Given the description of an element on the screen output the (x, y) to click on. 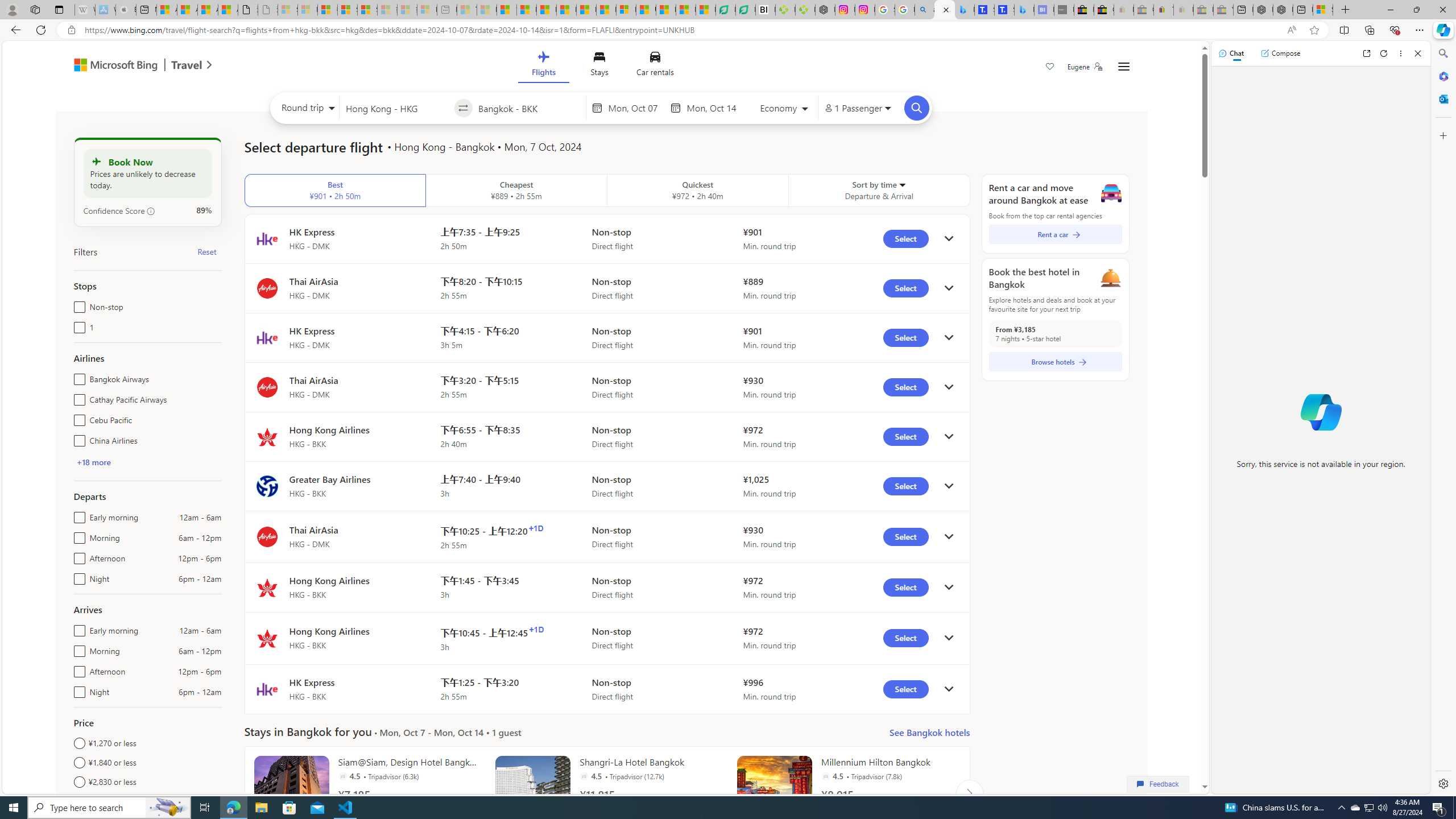
China Airlines (76, 438)
Aberdeen, Hong Kong SAR weather forecast | Microsoft Weather (186, 9)
1 Passenger (857, 108)
Tripadvisor (825, 775)
Food and Drink - MSN (526, 9)
Morning6am - 12pm (76, 648)
Yard, Garden & Outdoor Living - Sleeping (1222, 9)
Microsoft Services Agreement - Sleeping (306, 9)
LendingTree - Compare Lenders (745, 9)
